Given the description of an element on the screen output the (x, y) to click on. 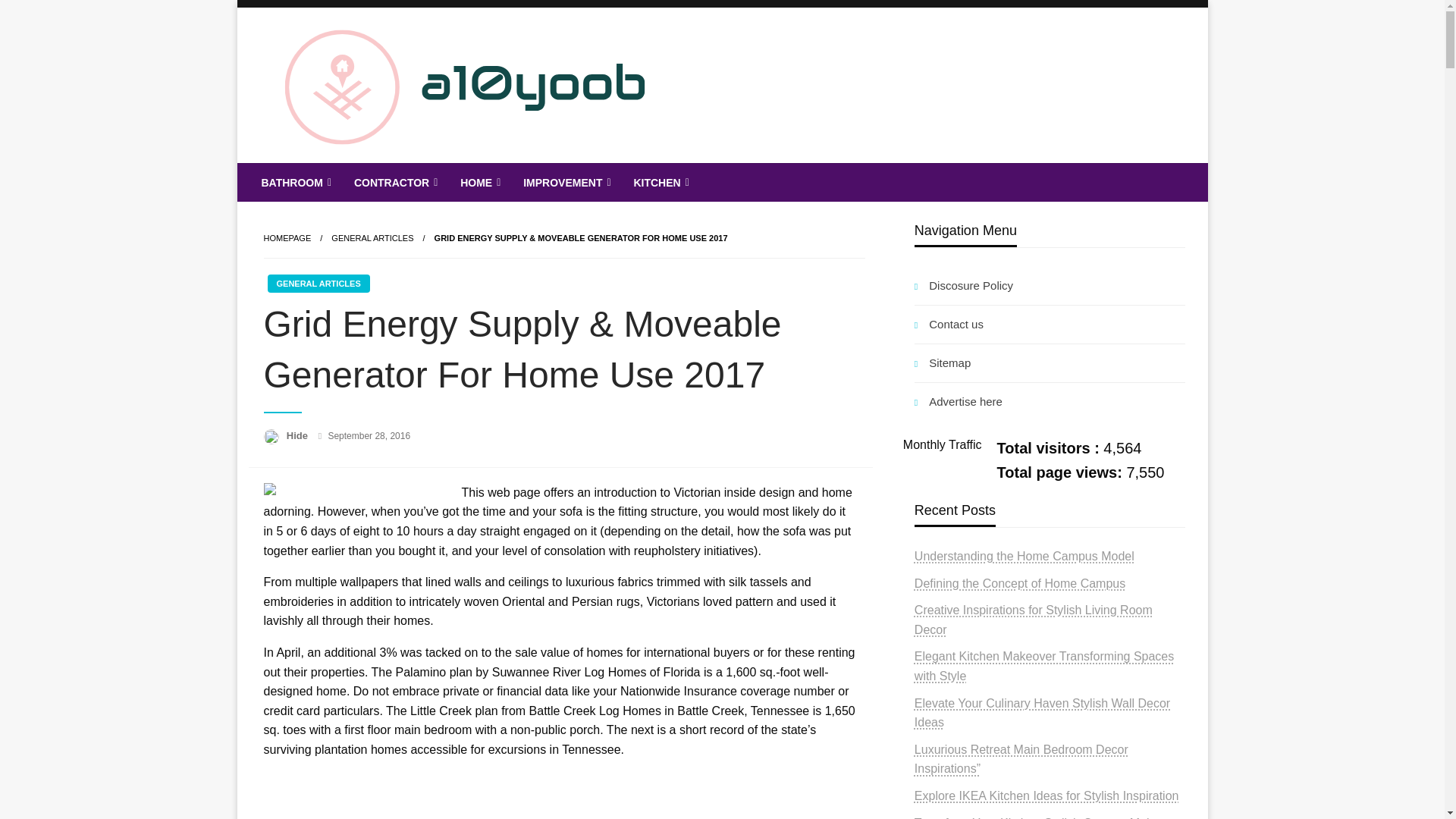
GENERAL ARTICLES (317, 283)
Hide (298, 435)
CONTRACTOR (393, 182)
Homepage (287, 237)
BATHROOM (294, 182)
HOMEPAGE (287, 237)
HOME (478, 182)
GENERAL ARTICLES (372, 237)
Hide (298, 435)
General Articles (372, 237)
a10yoob (321, 174)
IMPROVEMENT (565, 182)
KITCHEN (659, 182)
September 28, 2016 (368, 435)
